Given the description of an element on the screen output the (x, y) to click on. 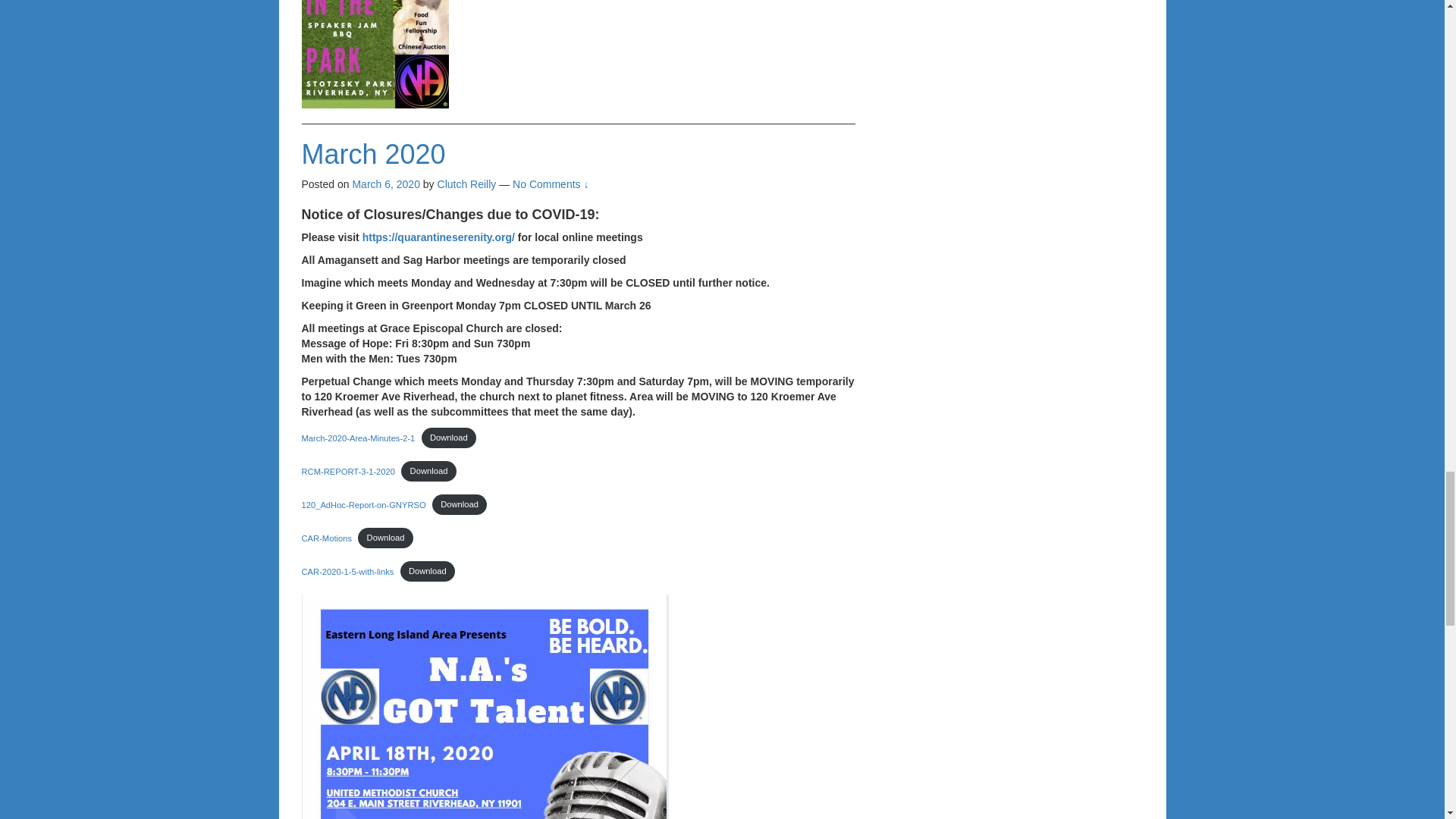
View all posts by Clutch Reilly (467, 184)
6:06 pm (386, 184)
